Given the description of an element on the screen output the (x, y) to click on. 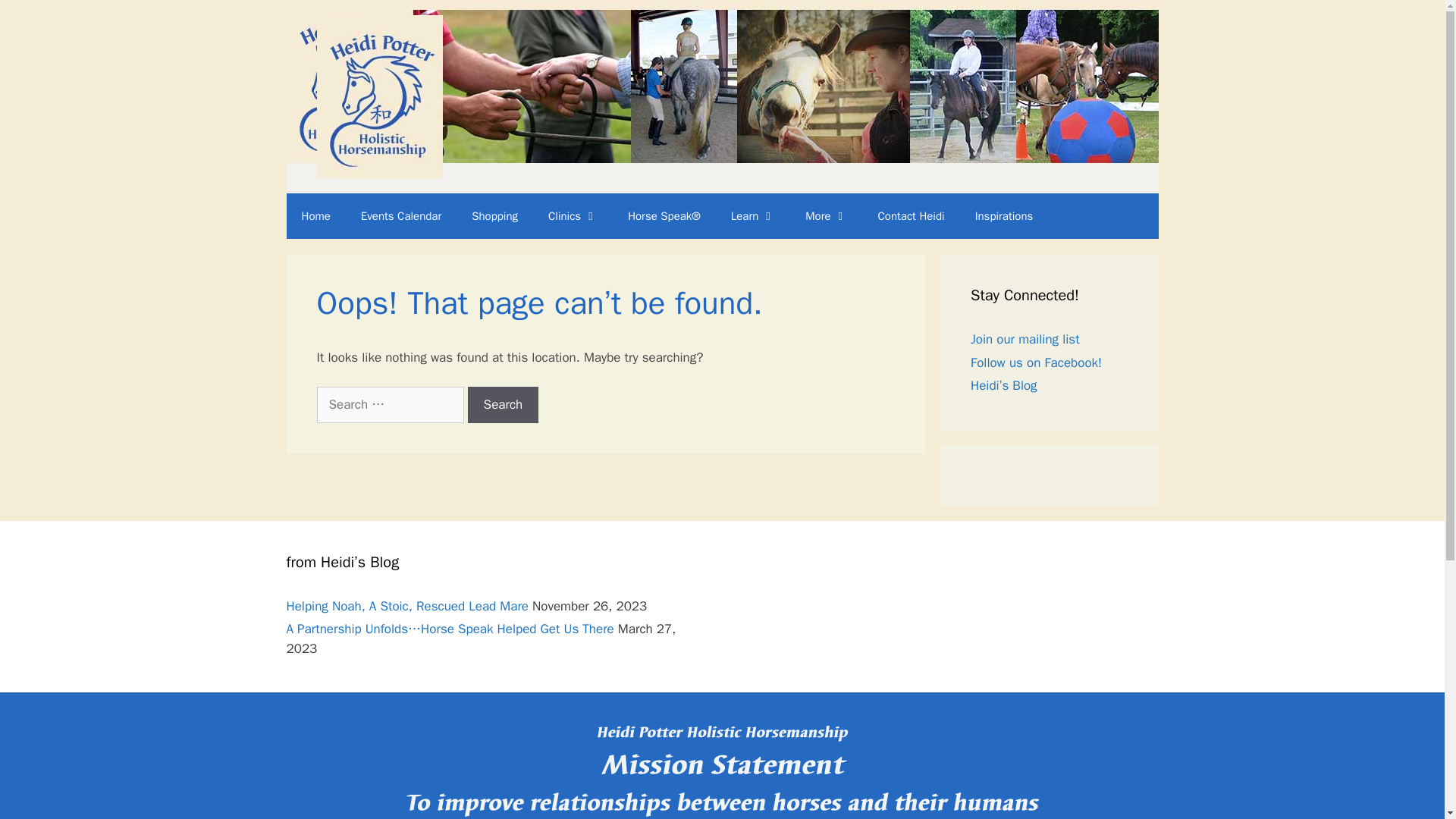
Events Calendar (401, 216)
Clinics (572, 216)
Shopping (494, 216)
Follow us on Facebook! (1036, 362)
Search (502, 404)
Home (316, 216)
More (825, 216)
Helping Noah, A Stoic, Rescued Lead Mare (407, 605)
Learn (753, 216)
Search (502, 404)
